Given the description of an element on the screen output the (x, y) to click on. 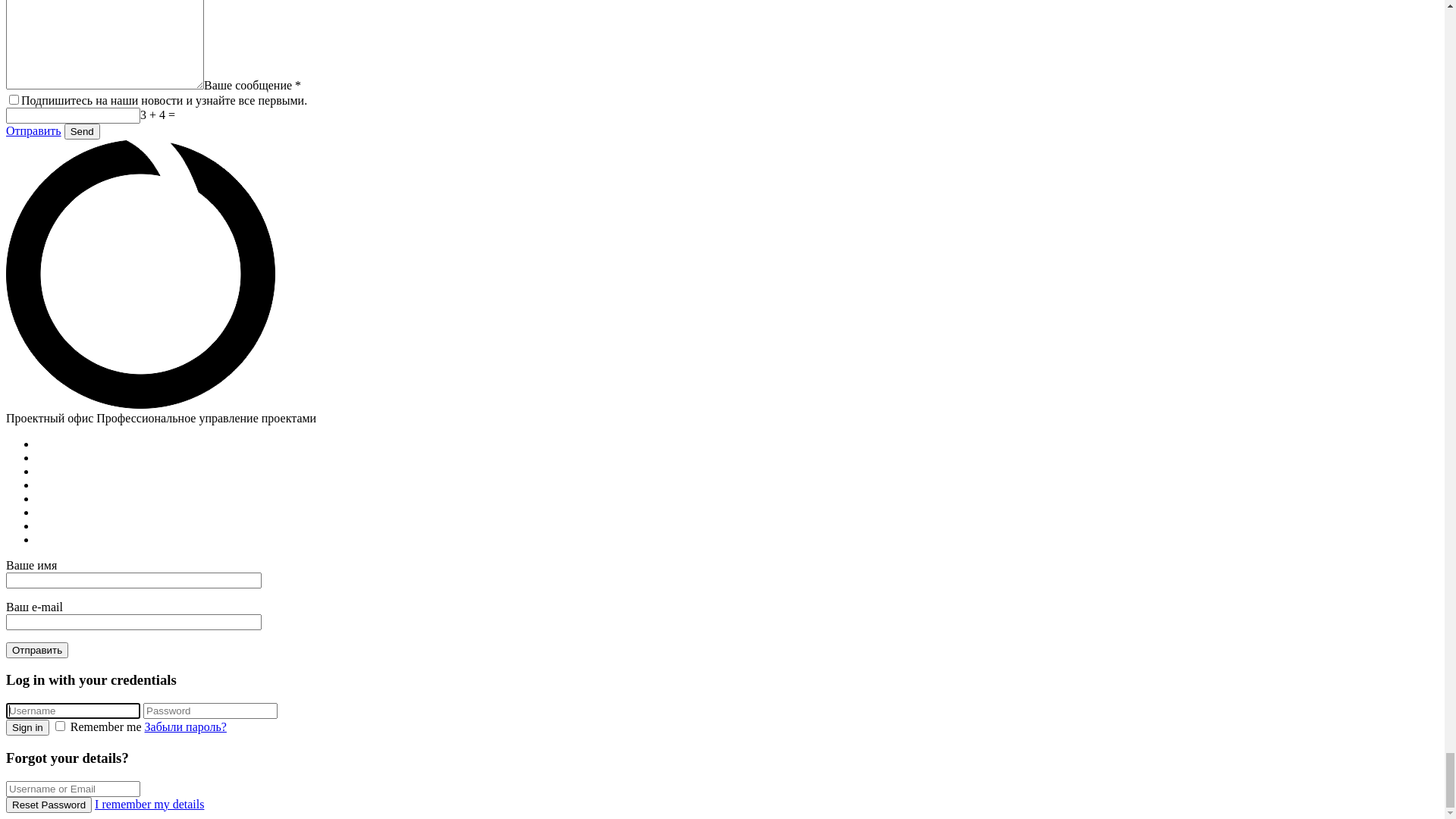
Facebook Element type: text (737, 18)
+375 (29) 606-17-18 Element type: text (87, 57)
Toggle navigation Element type: text (51, 85)
Linkedin Element type: text (737, 32)
